Given the description of an element on the screen output the (x, y) to click on. 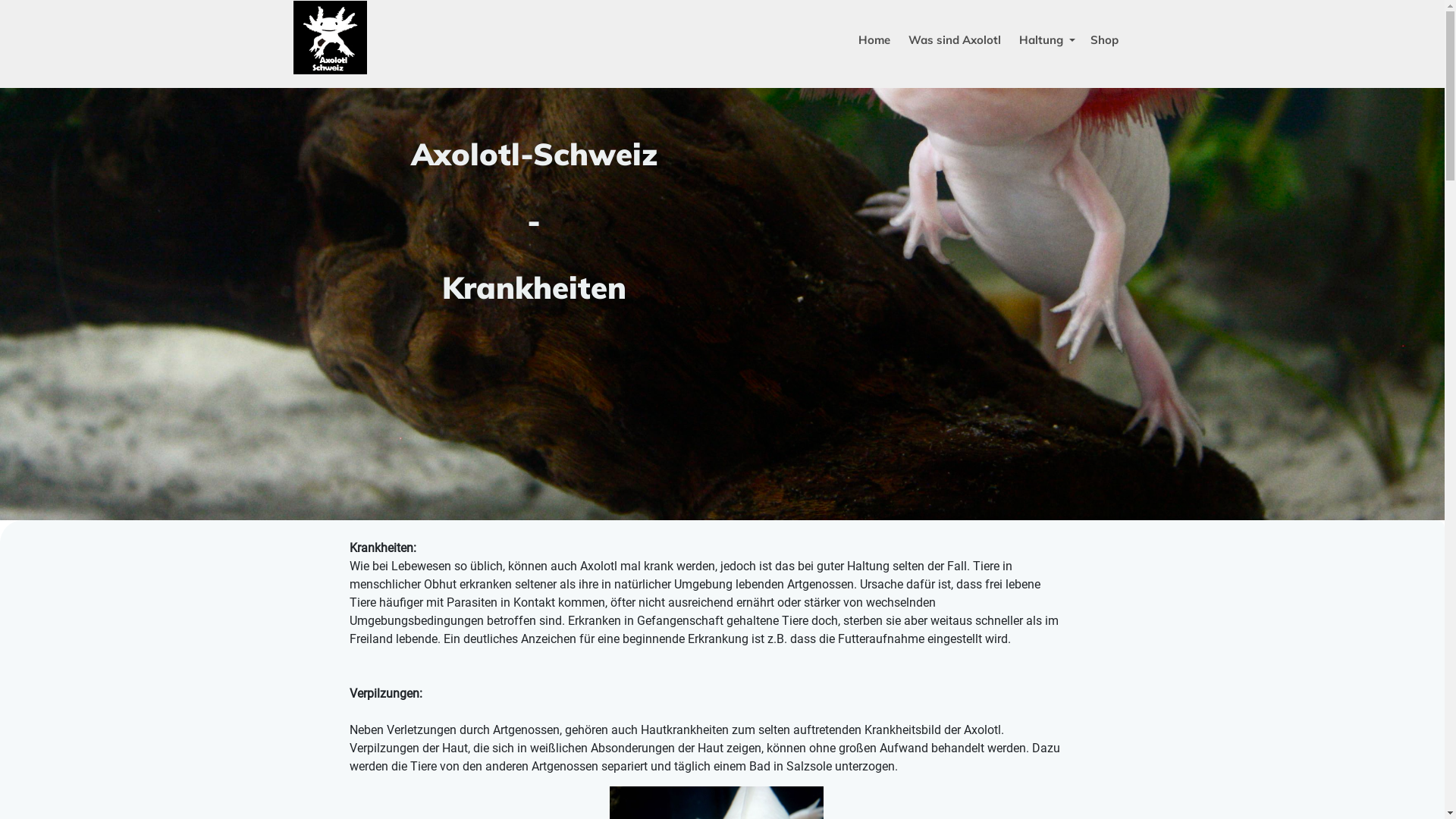
Shop Element type: text (1104, 40)
Was sind Axolotl Element type: text (954, 40)
Home Element type: text (874, 40)
Haltung Element type: text (1045, 40)
